Given the description of an element on the screen output the (x, y) to click on. 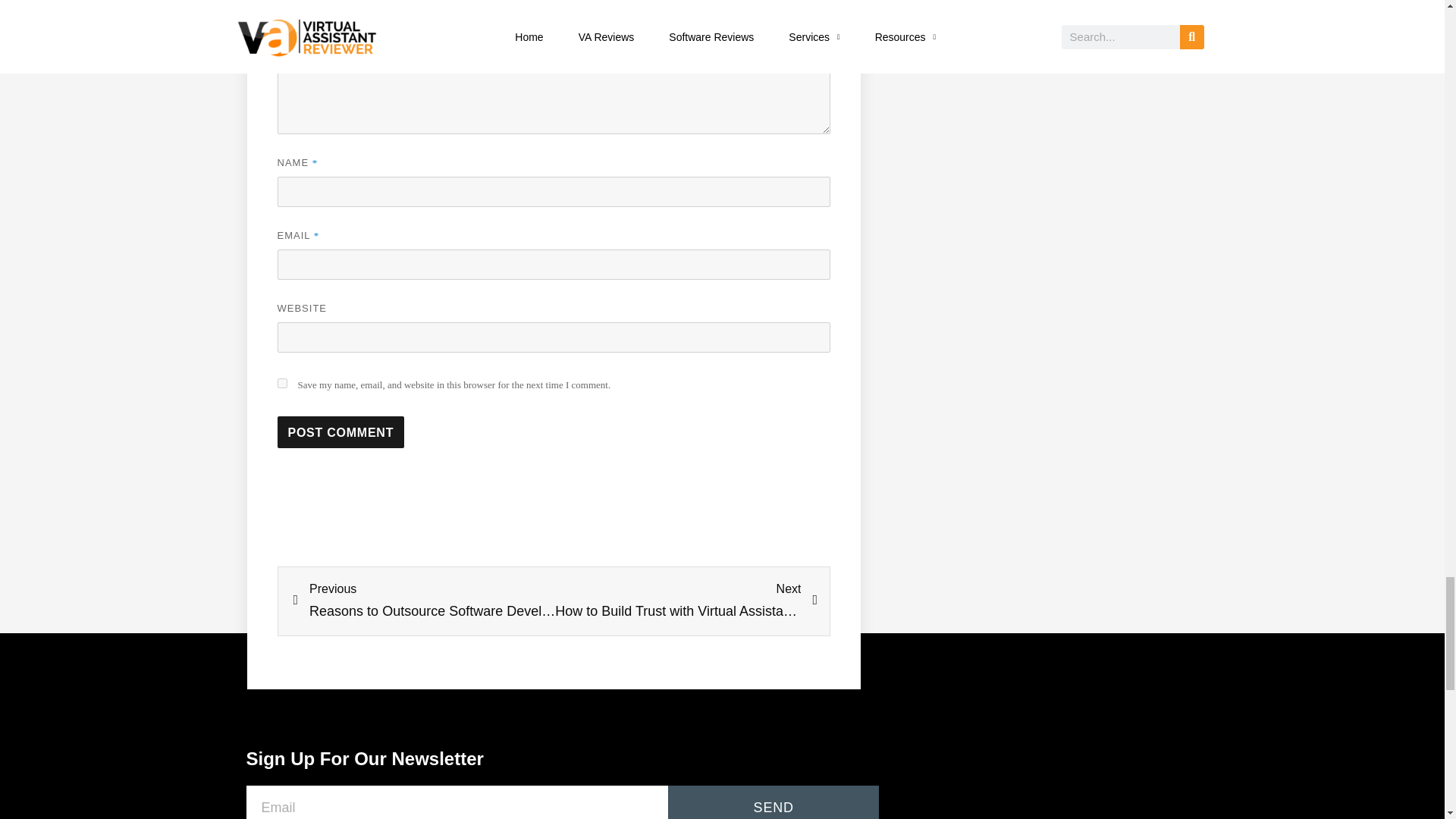
yes (282, 383)
Post Comment (341, 431)
